Given the description of an element on the screen output the (x, y) to click on. 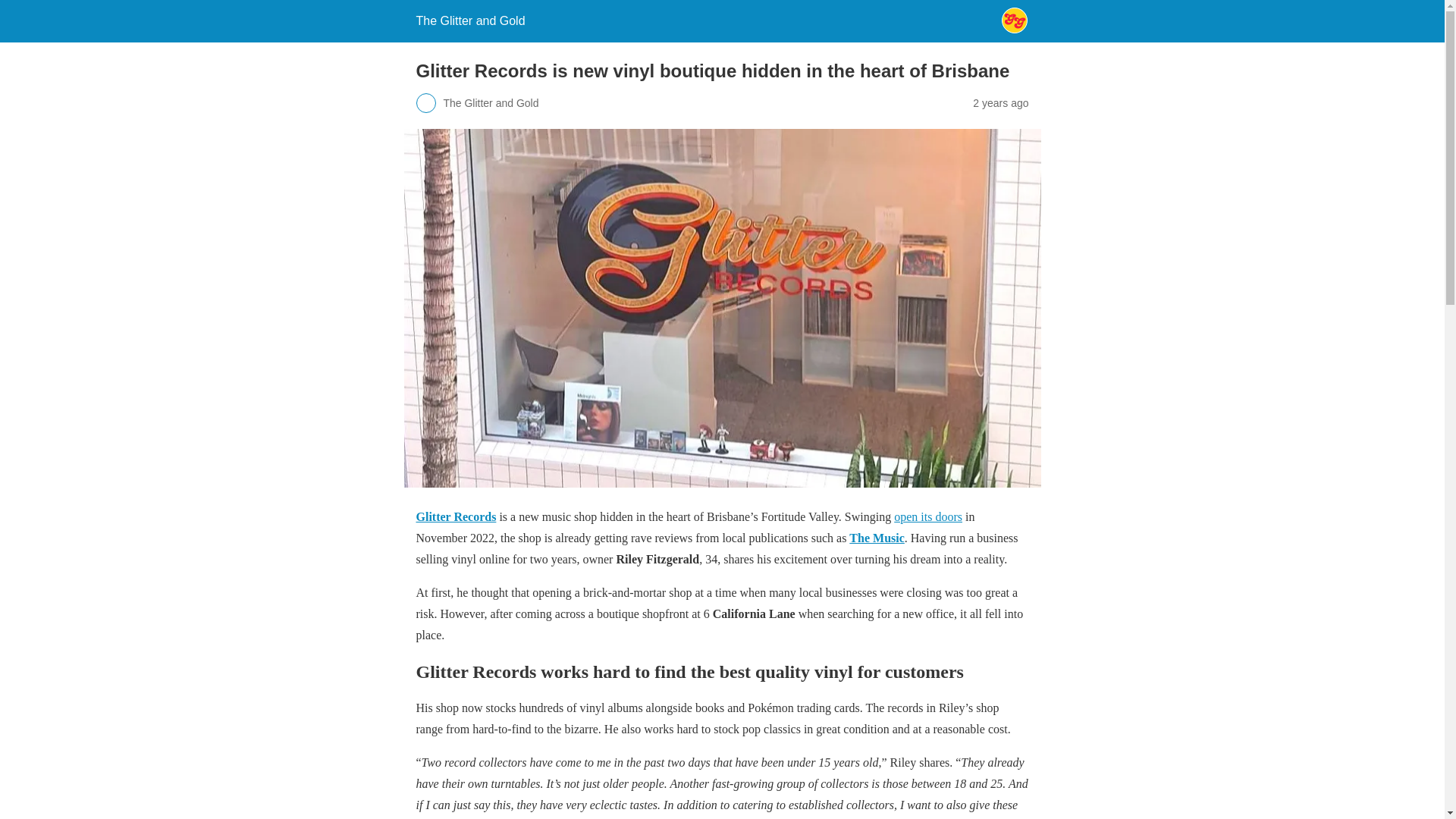
open its doors (927, 516)
Glitter Records (455, 516)
The Music (876, 537)
The Glitter and Gold (469, 20)
